Given the description of an element on the screen output the (x, y) to click on. 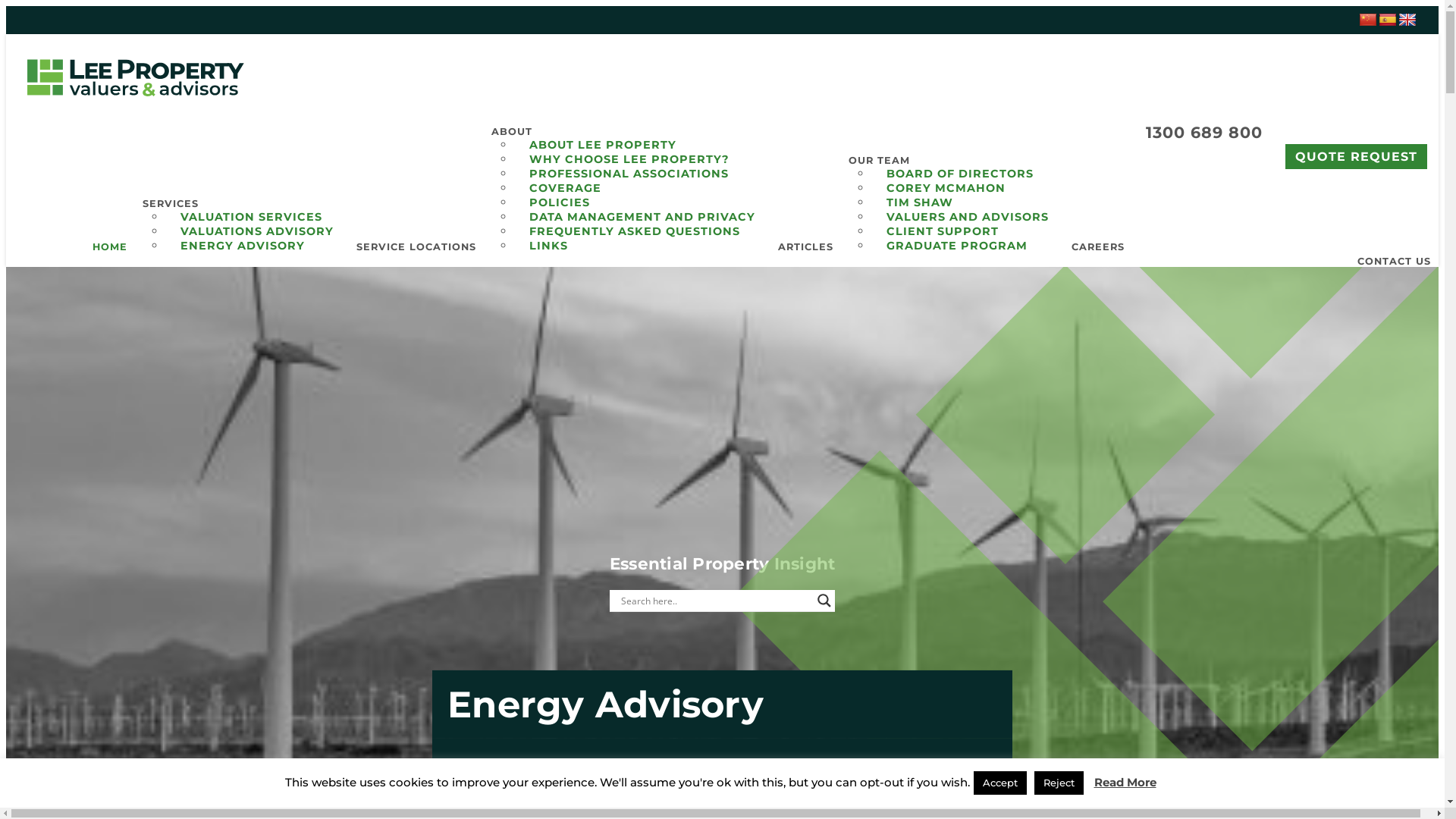
SERVICES Element type: text (170, 203)
CLIENT SUPPORT Element type: text (942, 231)
OUR TEAM Element type: text (878, 159)
PROFESSIONAL ASSOCIATIONS Element type: text (628, 173)
Read More Element type: text (1124, 782)
COREY MCMAHON Element type: text (945, 187)
CAREERS Element type: text (1097, 246)
POLICIES Element type: text (559, 202)
Accept Element type: text (999, 782)
COVERAGE Element type: text (565, 187)
ABOUT Element type: text (511, 131)
ARTICLES Element type: text (805, 246)
FREQUENTLY ASKED QUESTIONS Element type: text (634, 231)
VALUATION SERVICES Element type: text (251, 216)
DATA MANAGEMENT AND PRIVACY Element type: text (642, 216)
LINKS Element type: text (548, 245)
QUOTE REQUEST Element type: text (1356, 156)
VALUERS AND ADVISORS Element type: text (967, 216)
HOME Element type: text (109, 246)
ABOUT LEE PROPERTY Element type: text (602, 144)
Toggle navigation Element type: text (1426, 45)
Skip to content Element type: text (29, 54)
ENERGY ADVISORY Element type: text (242, 245)
GRADUATE PROGRAM Element type: text (956, 245)
BOARD OF DIRECTORS Element type: text (959, 173)
TIM SHAW Element type: text (919, 202)
1300 689 800 Element type: text (1203, 132)
Reject Element type: text (1058, 782)
VALUATIONS ADVISORY Element type: text (256, 231)
WHY CHOOSE LEE PROPERTY? Element type: text (628, 159)
CONTACT US Element type: text (1393, 260)
SERVICE LOCATIONS Element type: text (415, 246)
